Given the description of an element on the screen output the (x, y) to click on. 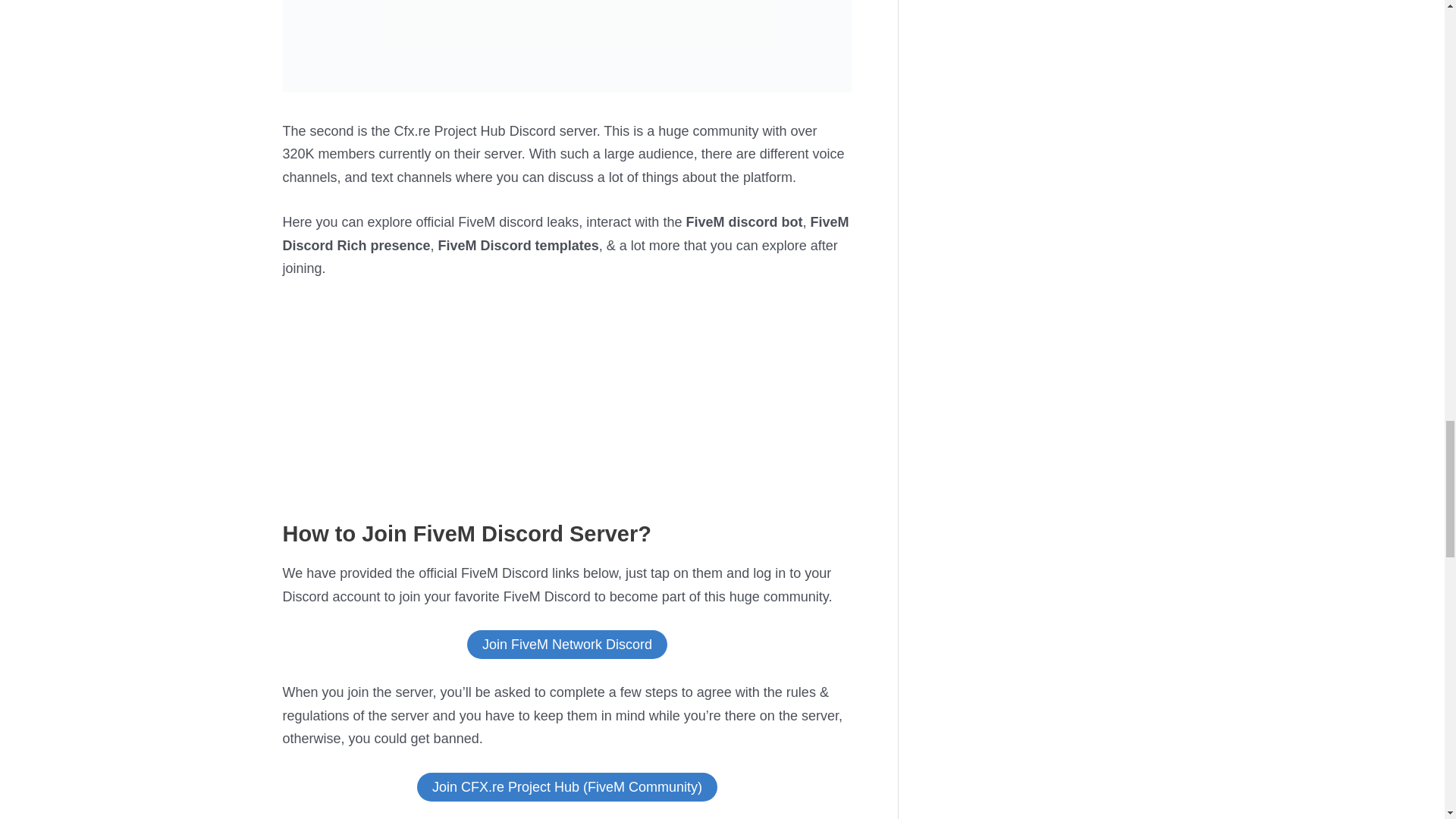
Advertisement (566, 408)
Join FiveM Network Discord (566, 644)
